Given the description of an element on the screen output the (x, y) to click on. 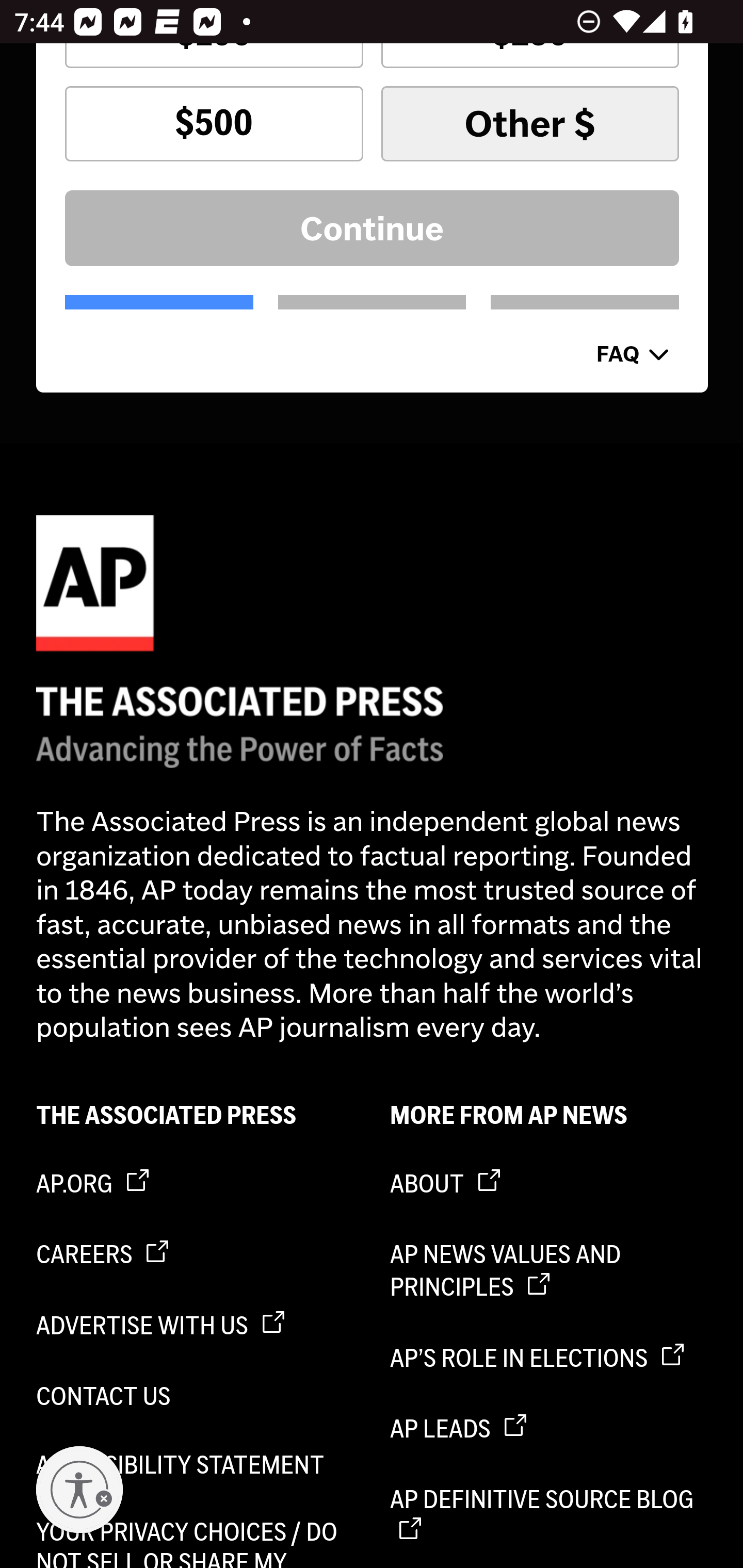
Other $ (529, 123)
Continue (372, 227)
FAQ    (632, 353)
AP.ORG  (195, 1184)
ABOUT  (549, 1184)
CAREERS  (195, 1254)
AP NEWS VALUES AND PRINCIPLES  (549, 1271)
ADVERTISE WITH US  (195, 1326)
AP’S ROLE IN ELECTIONS  (549, 1357)
CONTACT US (195, 1395)
AP LEADS  (549, 1429)
Enable accessibility (79, 1490)
ACCESSIBILITY STATEMENT (195, 1464)
AP DEFINITIVE SOURCE BLOG  (549, 1515)
